Given the description of an element on the screen output the (x, y) to click on. 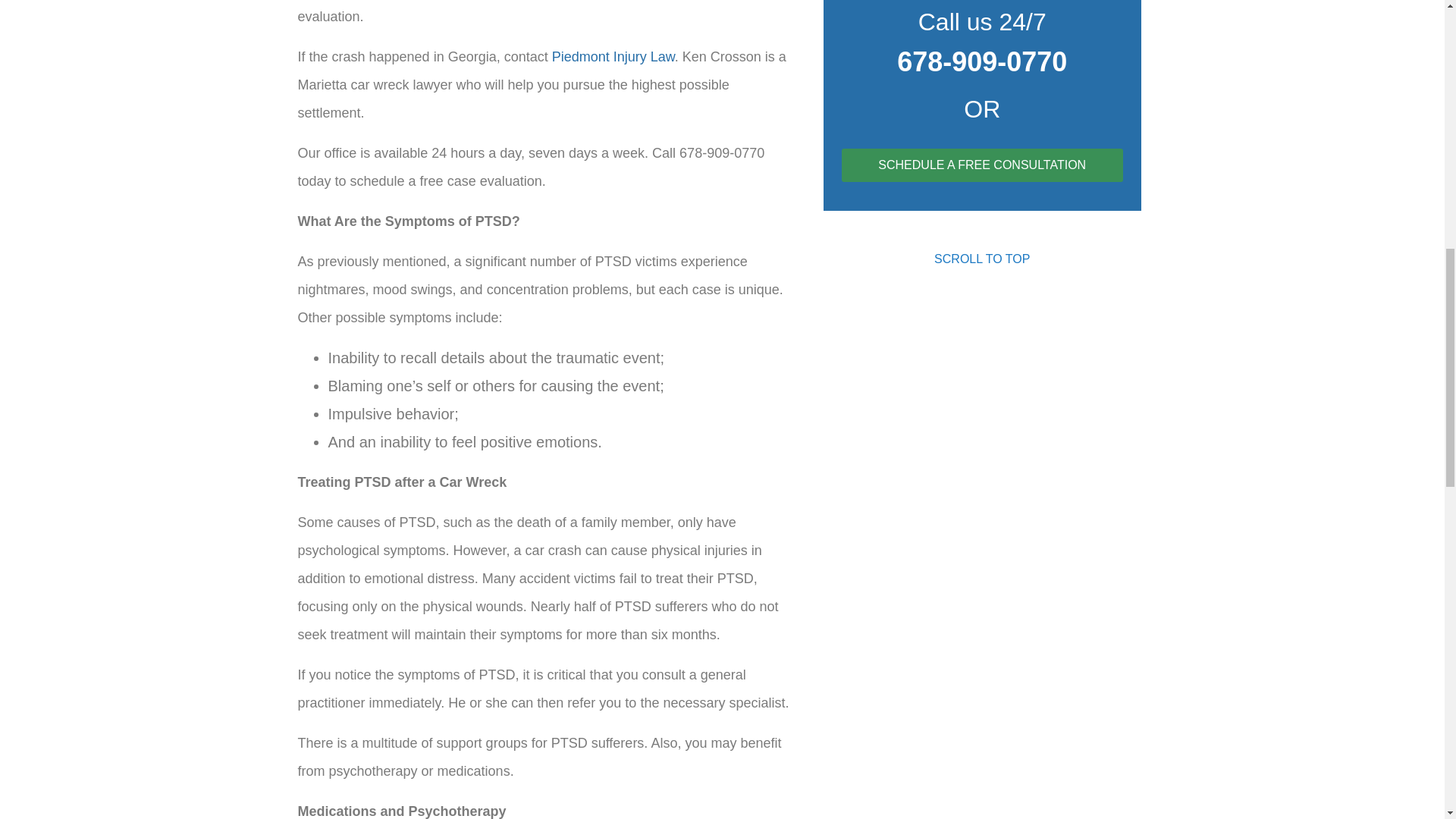
Piedmont Injury Law (613, 56)
678-909-0770 (981, 60)
SCHEDULE A FREE CONSULTATION (981, 164)
SCROLL TO TOP (981, 259)
